Given the description of an element on the screen output the (x, y) to click on. 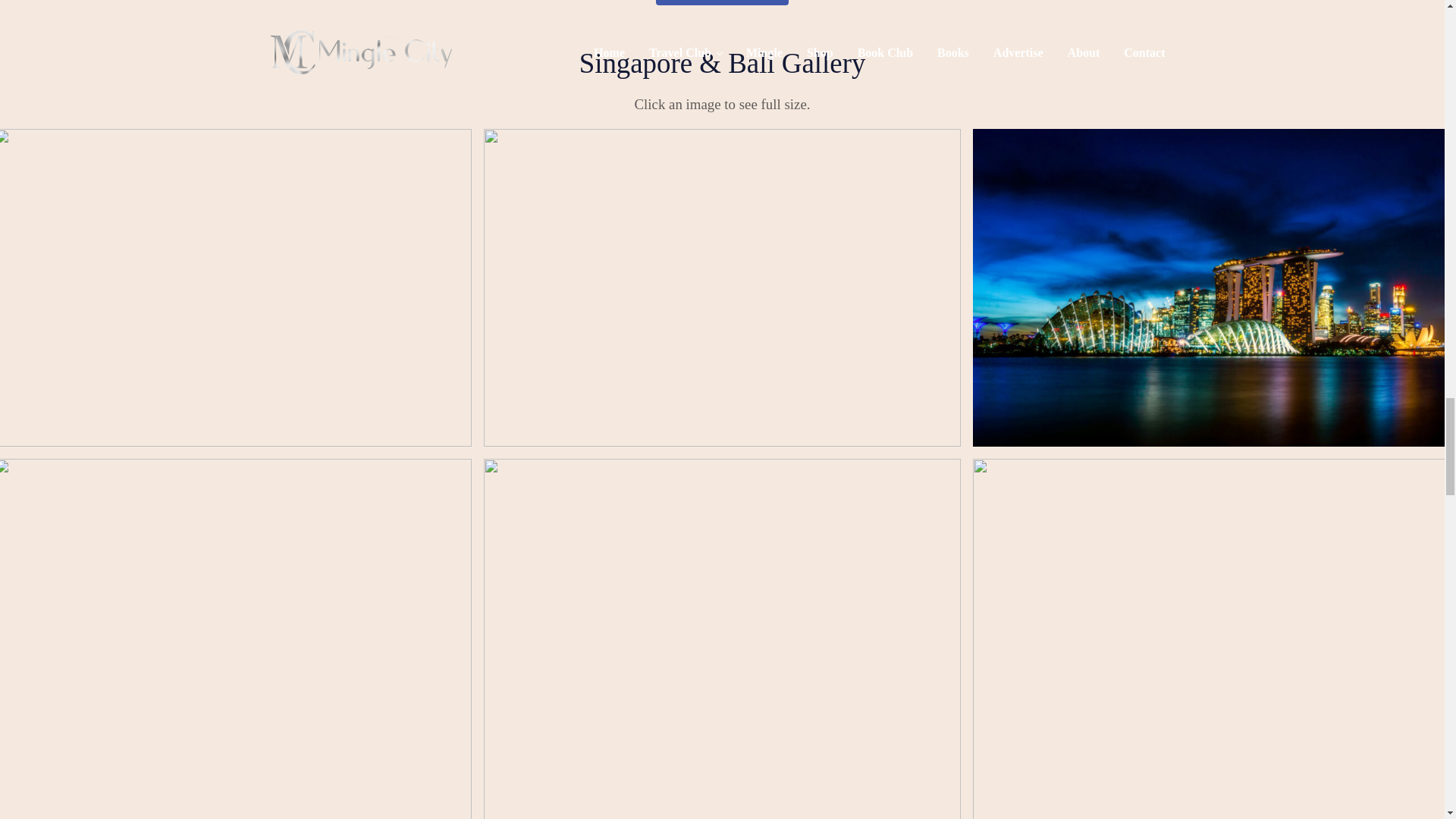
Book Your Trip! (722, 2)
